Given the description of an element on the screen output the (x, y) to click on. 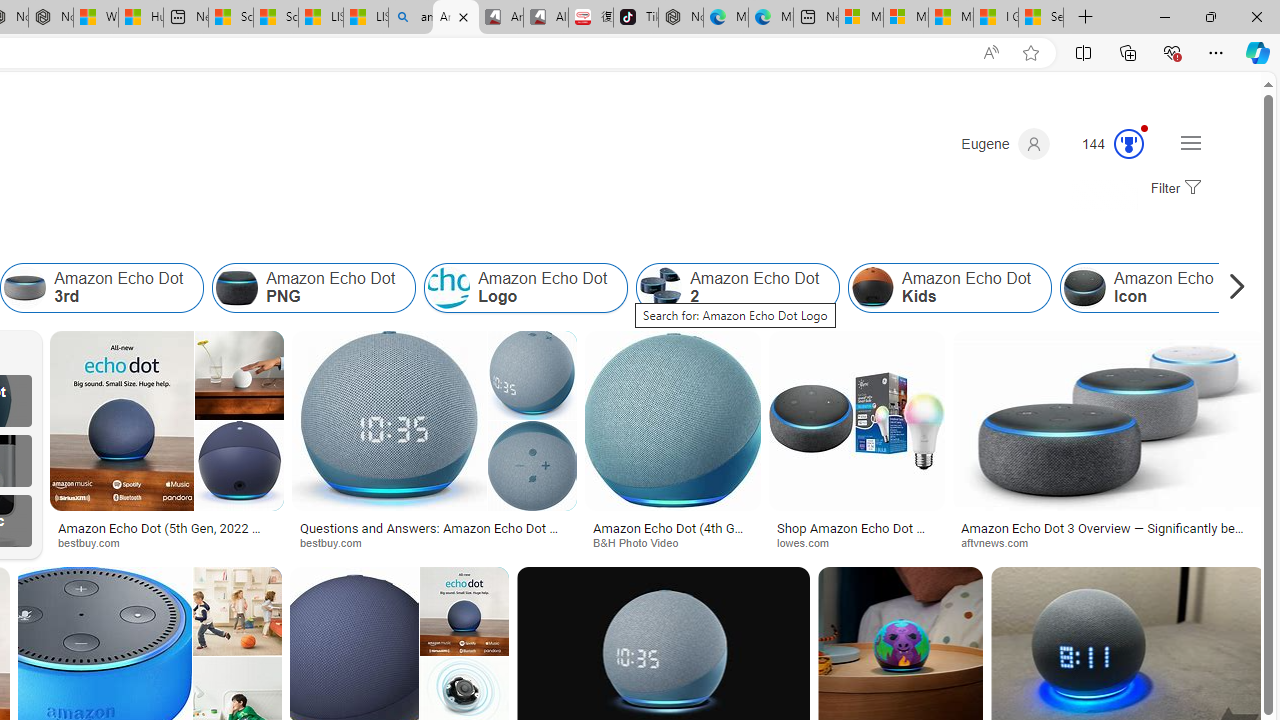
Class: medal-svg-animation (1129, 143)
All Cubot phones (545, 17)
